Given the description of an element on the screen output the (x, y) to click on. 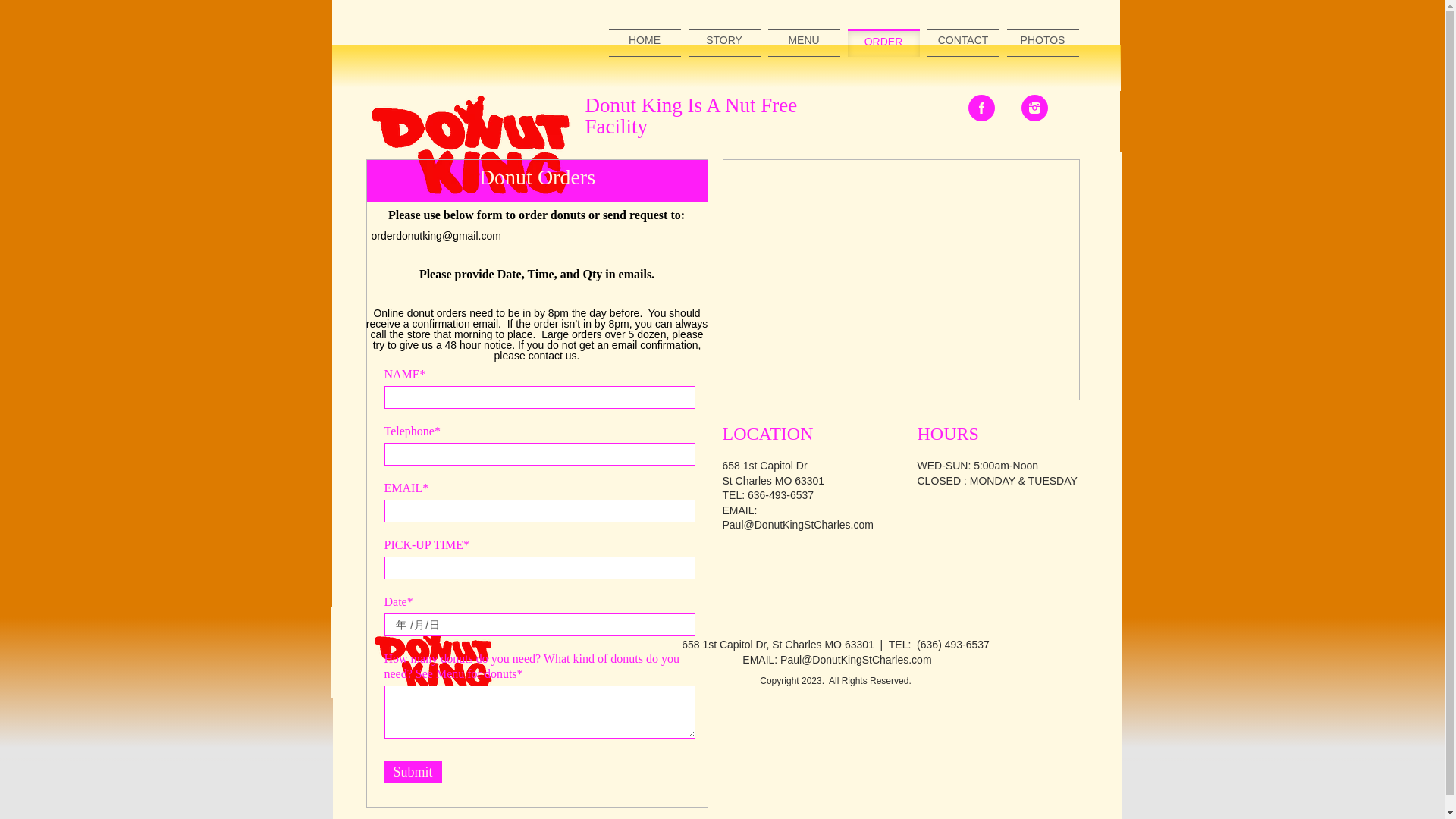
Submit (412, 771)
PHOTOS (1042, 42)
HOME (643, 42)
STORY (724, 42)
ORDER (883, 43)
CONTACT (962, 42)
MENU (803, 42)
